Given the description of an element on the screen output the (x, y) to click on. 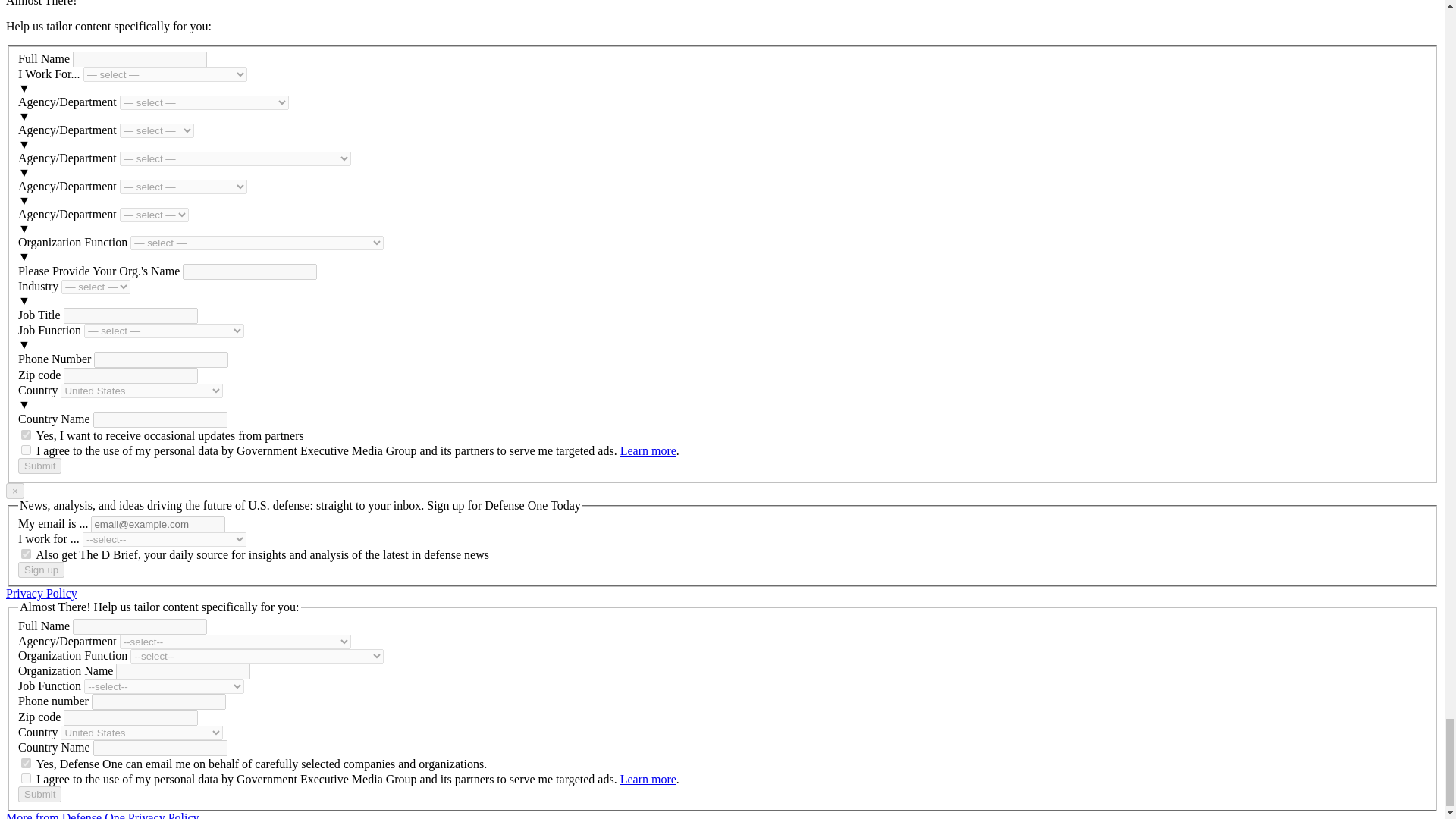
on (25, 763)
on (25, 434)
Submit (39, 465)
on (25, 777)
on (25, 553)
on (25, 450)
